Given the description of an element on the screen output the (x, y) to click on. 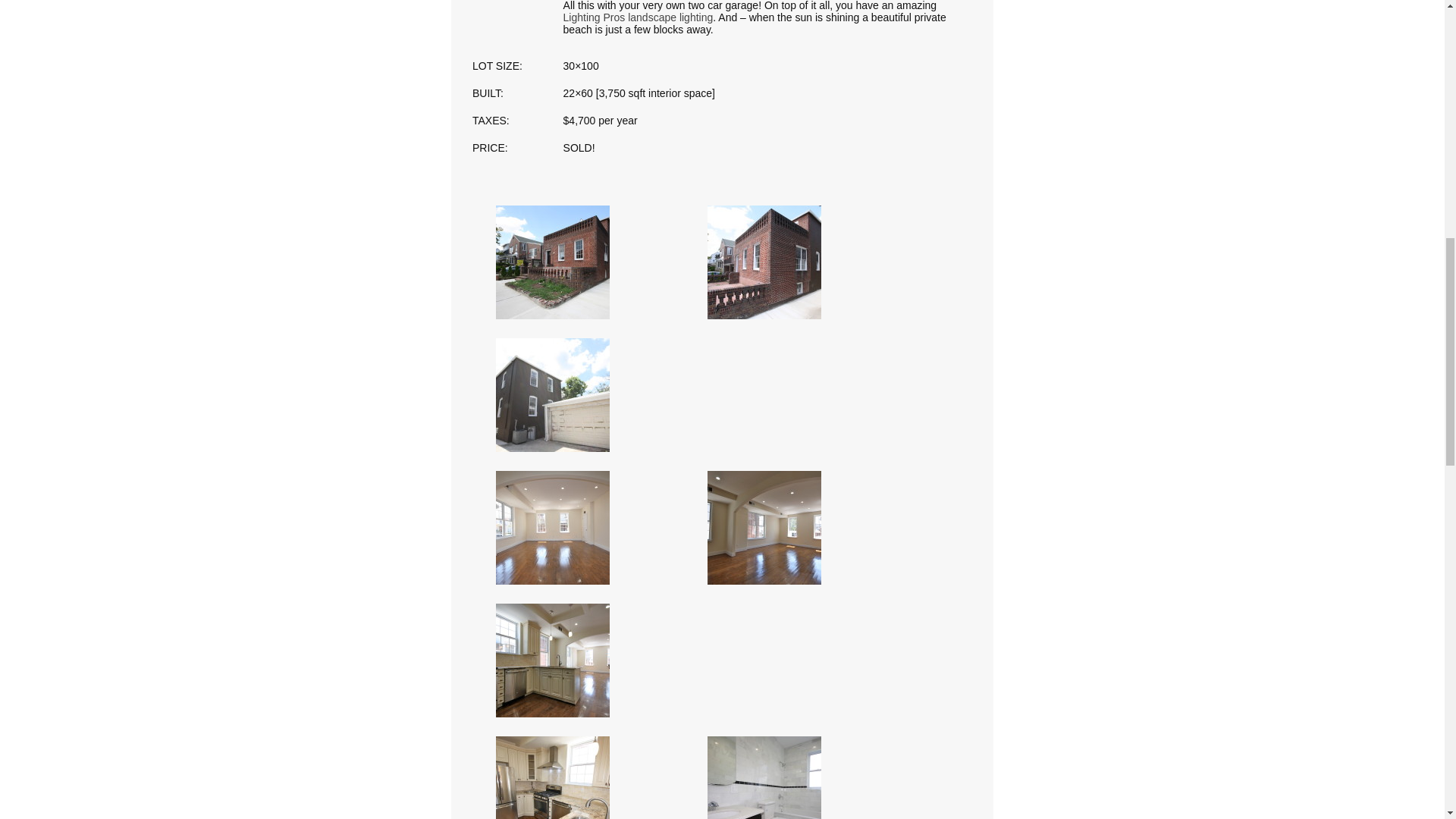
Lighting Pros landscape lighting (638, 17)
